Given the description of an element on the screen output the (x, y) to click on. 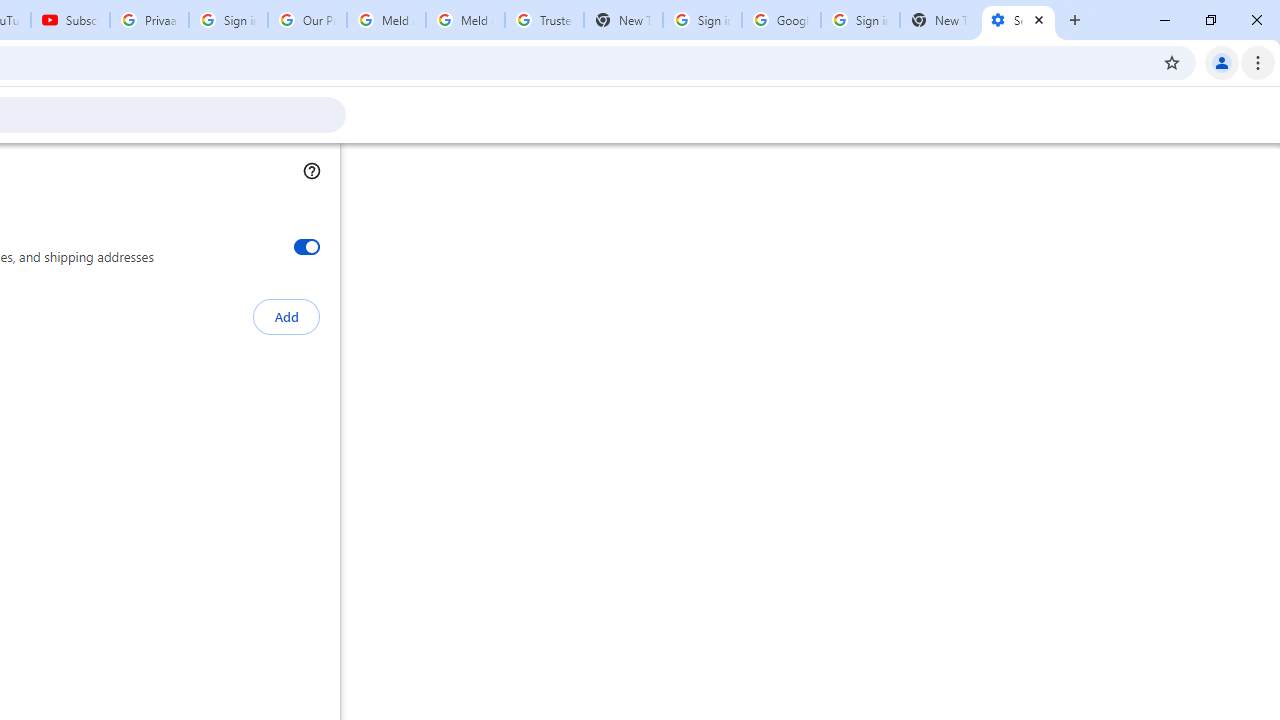
New comment (866, 314)
Filter (1241, 314)
Sign in (1012, 32)
Finish & Merge (255, 161)
Editing (1101, 84)
Last (175, 126)
Previous (29, 126)
Record (83, 126)
